Given the description of an element on the screen output the (x, y) to click on. 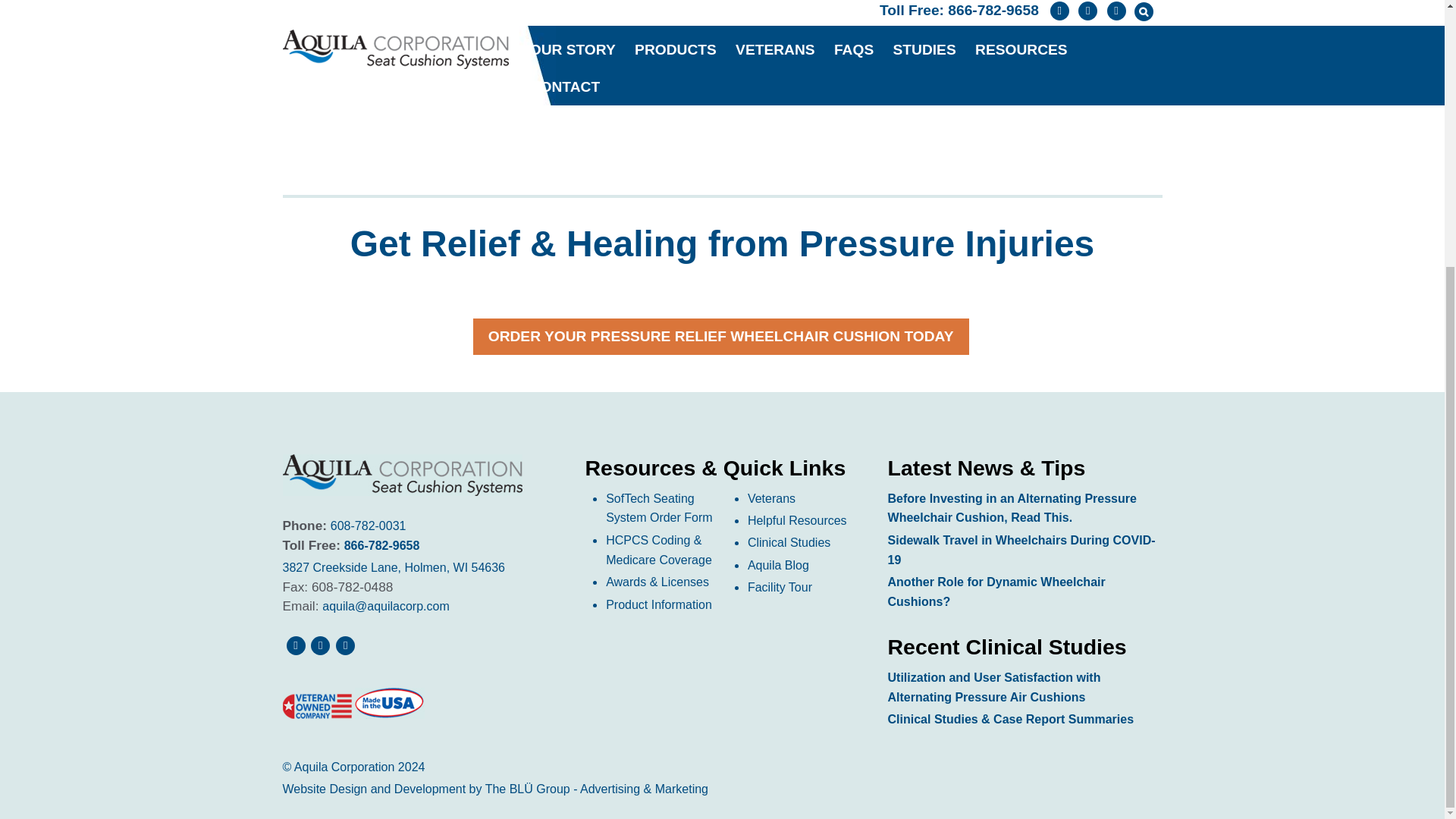
ORDER YOUR PRESSURE RELIEF WHEELCHAIR CUSHION TODAY (721, 336)
LEARN MORE ABOUT PRESSURE SORES (1054, 43)
608-782-0031 (368, 525)
866-782-9658 (381, 545)
3827 Creekside Lane, Holmen, WI 54636 (393, 567)
James Yates (446, 2)
